Given the description of an element on the screen output the (x, y) to click on. 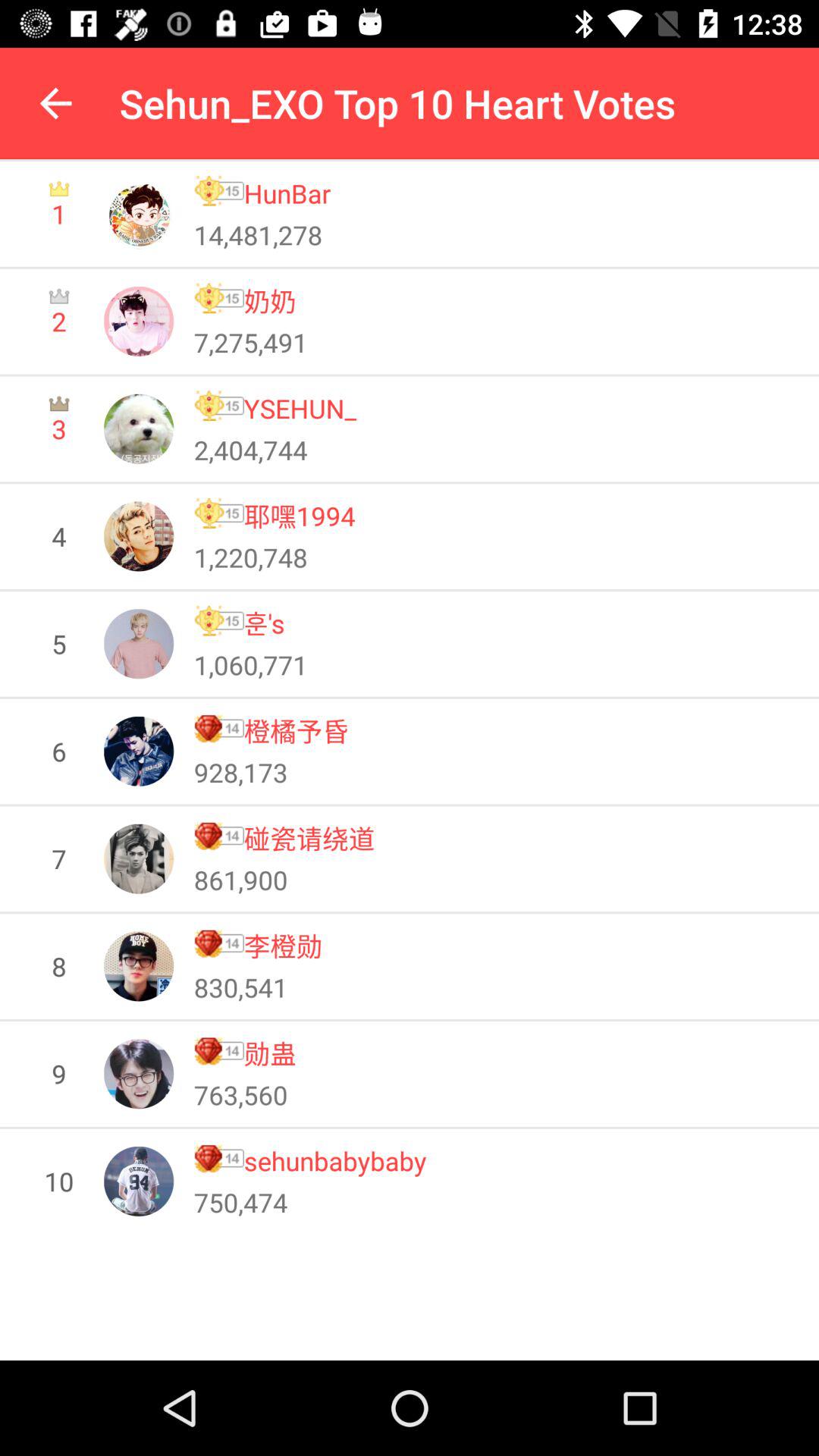
scroll until the 5 icon (58, 643)
